Given the description of an element on the screen output the (x, y) to click on. 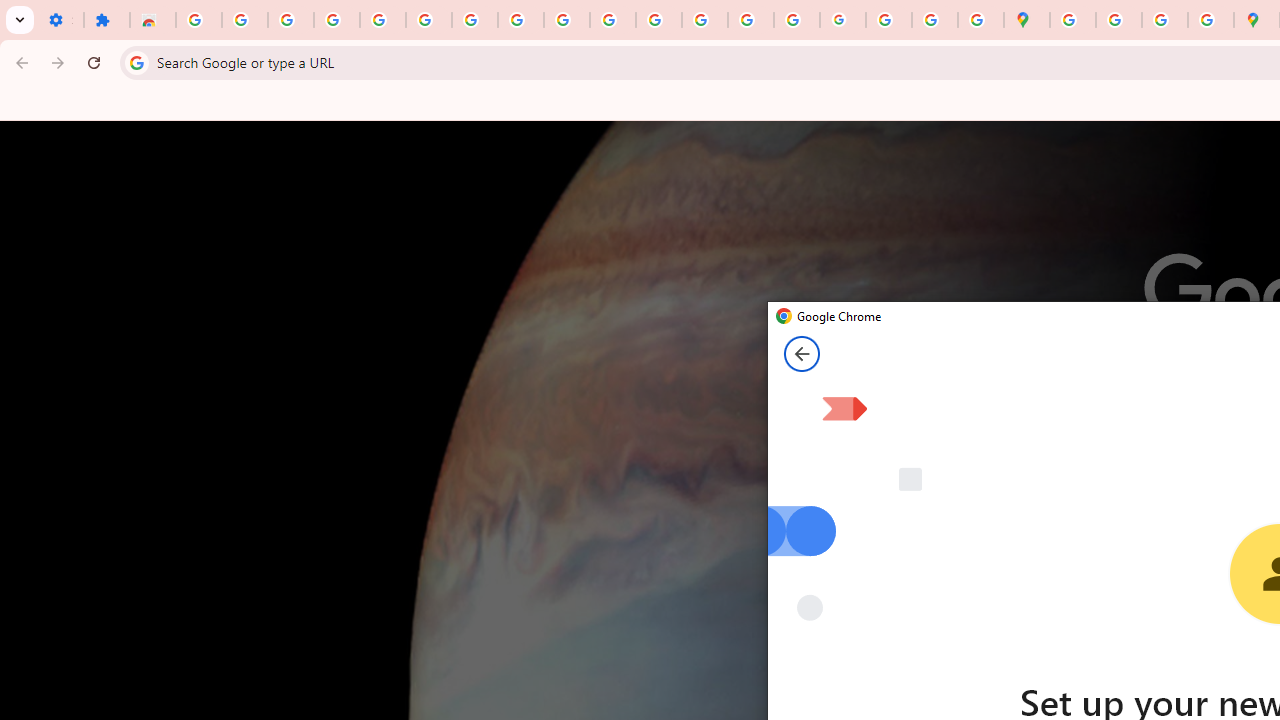
Sign in - Google Accounts (198, 20)
Safety in Our Products - Google Safety Center (1210, 20)
https://scholar.google.com/ (659, 20)
